Given the description of an element on the screen output the (x, y) to click on. 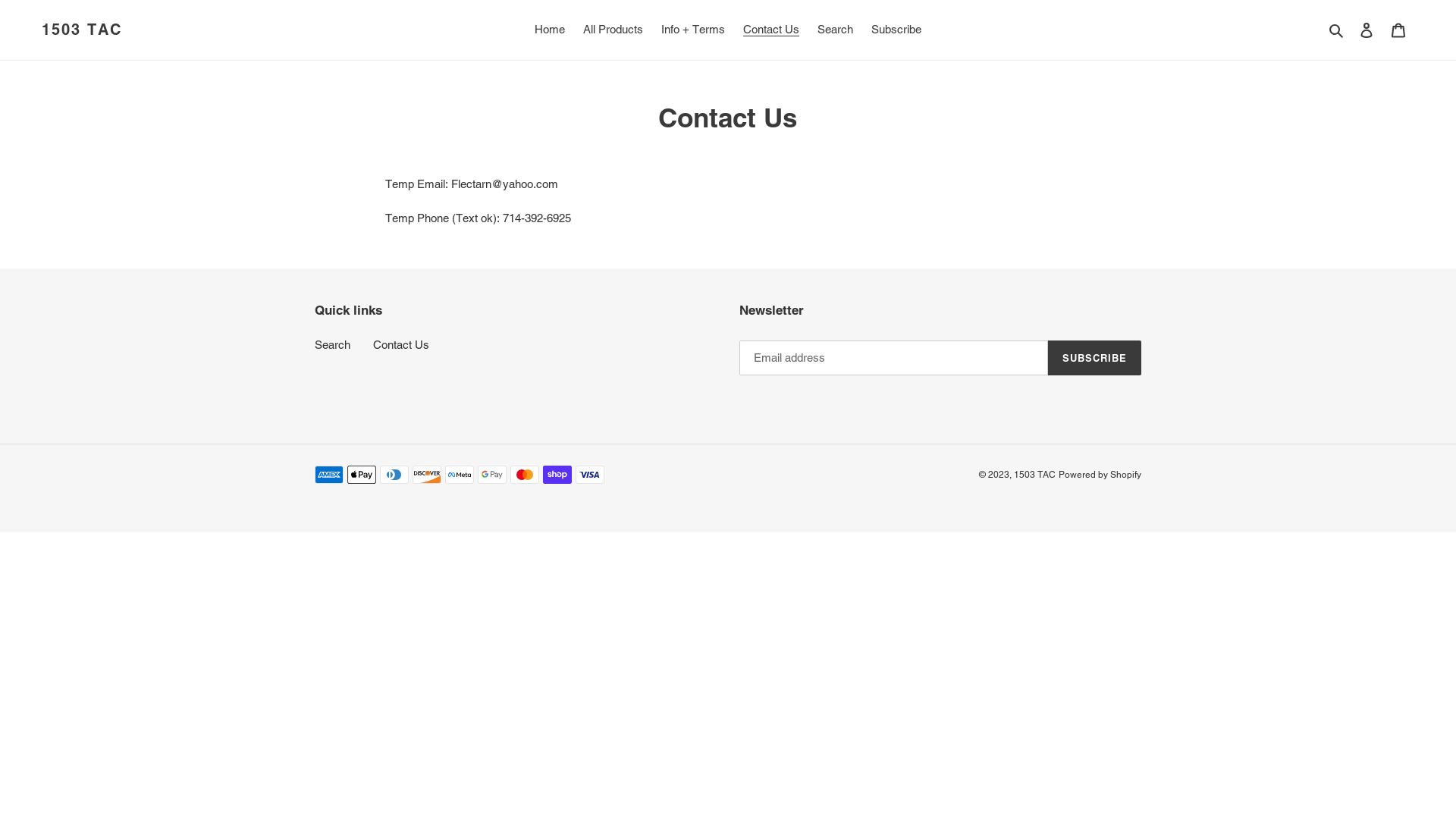
1503 TAC Element type: text (1034, 474)
Contact Us Element type: text (770, 29)
Cart Element type: text (1398, 29)
Log in Element type: text (1366, 29)
Search Element type: text (1337, 29)
Info + Terms Element type: text (692, 29)
Subscribe Element type: text (895, 29)
SUBSCRIBE Element type: text (1094, 357)
Search Element type: text (834, 29)
All Products Element type: text (612, 29)
Home Element type: text (549, 29)
Contact Us Element type: text (401, 344)
Powered by Shopify Element type: text (1099, 474)
Search Element type: text (332, 344)
1503 TAC Element type: text (81, 29)
